Given the description of an element on the screen output the (x, y) to click on. 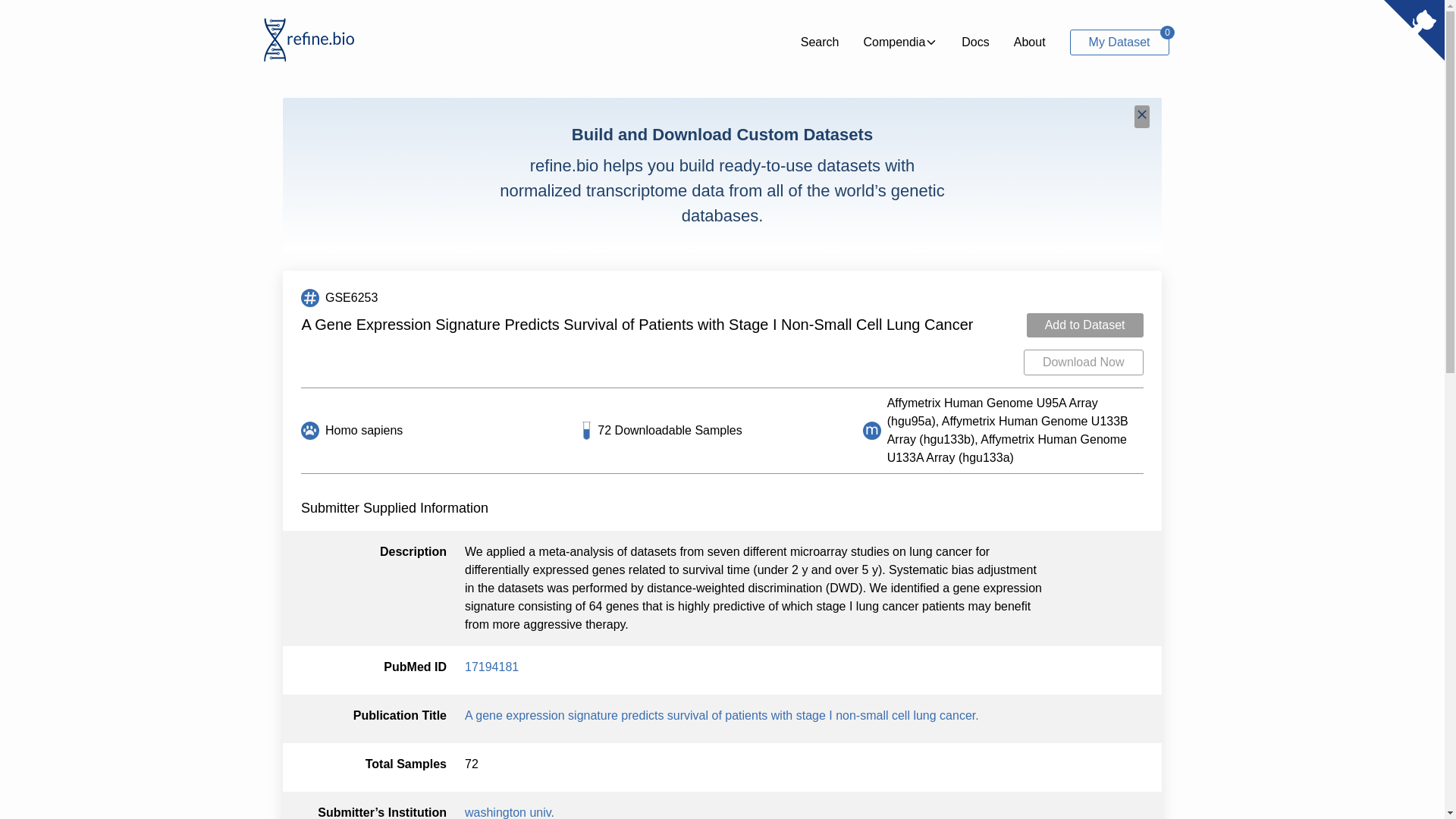
Add to Dataset (1084, 324)
About (1029, 42)
Search (820, 42)
washington univ. (509, 812)
Download Now (1082, 362)
17194181 (1119, 41)
Docs (491, 666)
Compendia (974, 42)
